Given the description of an element on the screen output the (x, y) to click on. 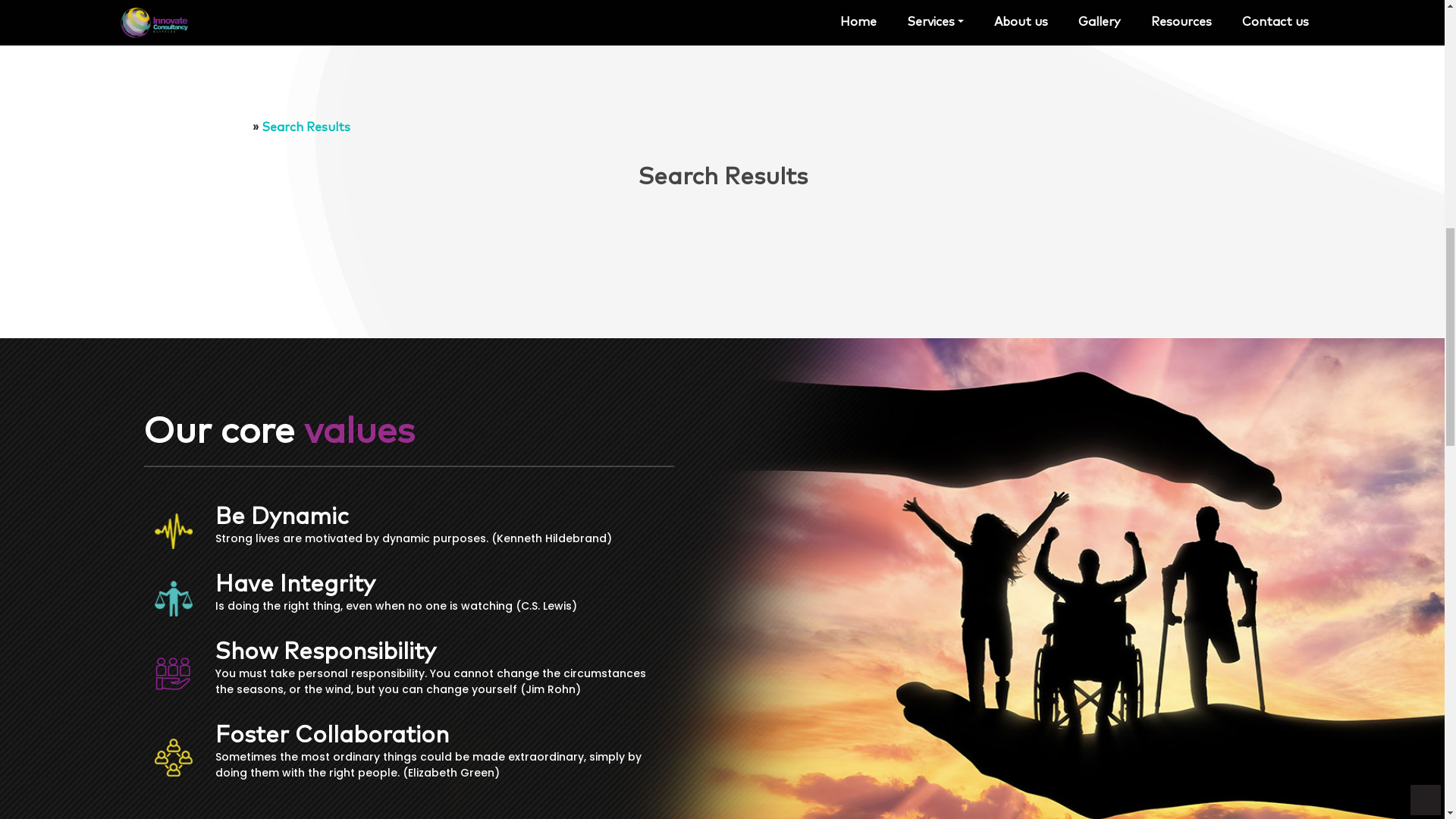
Learn More Element type: text (152, 486)
